Given the description of an element on the screen output the (x, y) to click on. 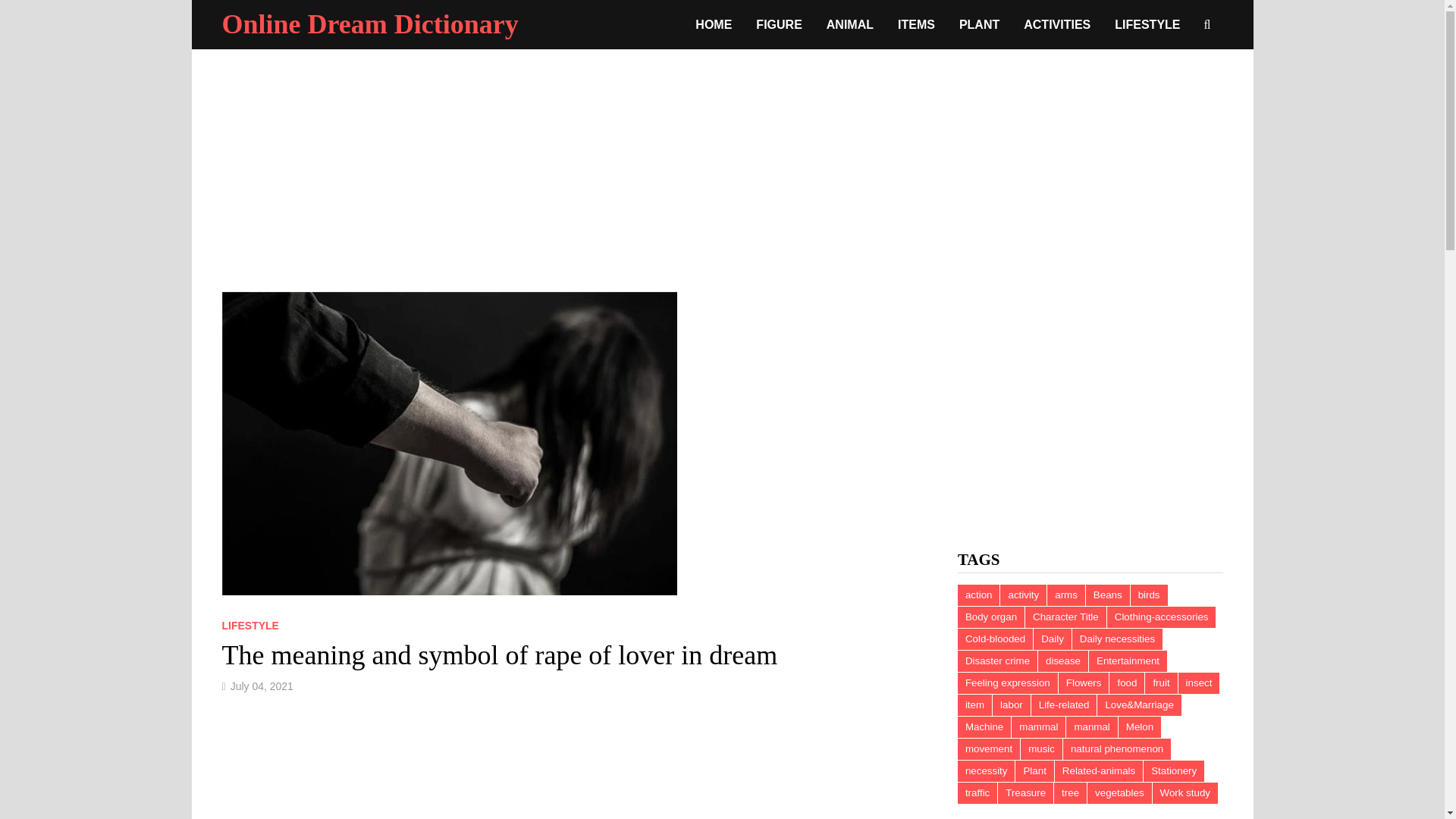
Online Dream Dictionary (369, 24)
PLANT (979, 24)
LIFESTYLE (1147, 24)
July 04, 2021 (262, 686)
ACTIVITIES (1056, 24)
Advertisement (1090, 397)
Advertisement (573, 769)
HOME (713, 24)
FIGURE (778, 24)
LIFESTYLE (249, 625)
ANIMAL (849, 24)
ITEMS (916, 24)
